Given the description of an element on the screen output the (x, y) to click on. 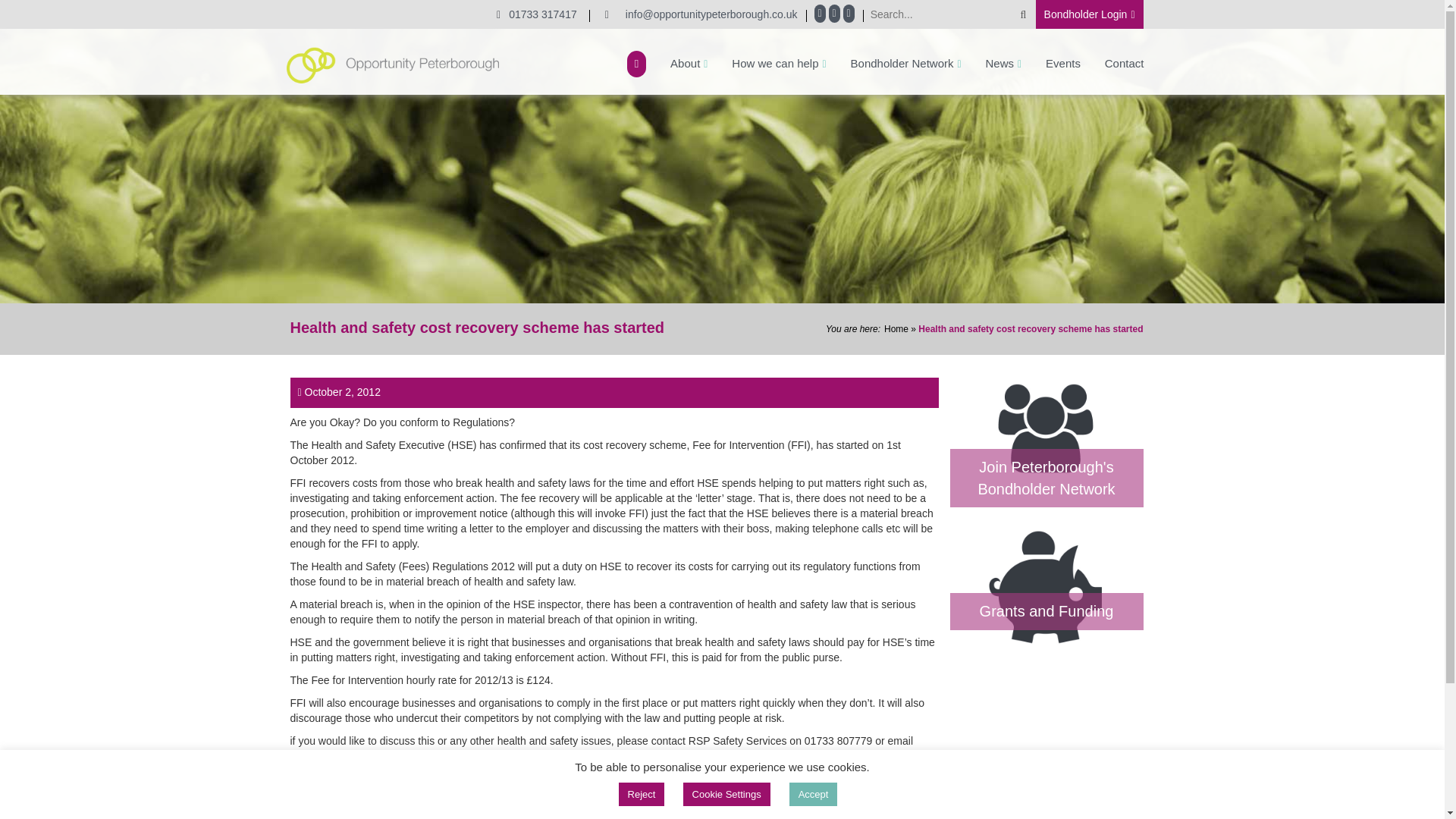
Opportunity Peterborough (392, 64)
